Given the description of an element on the screen output the (x, y) to click on. 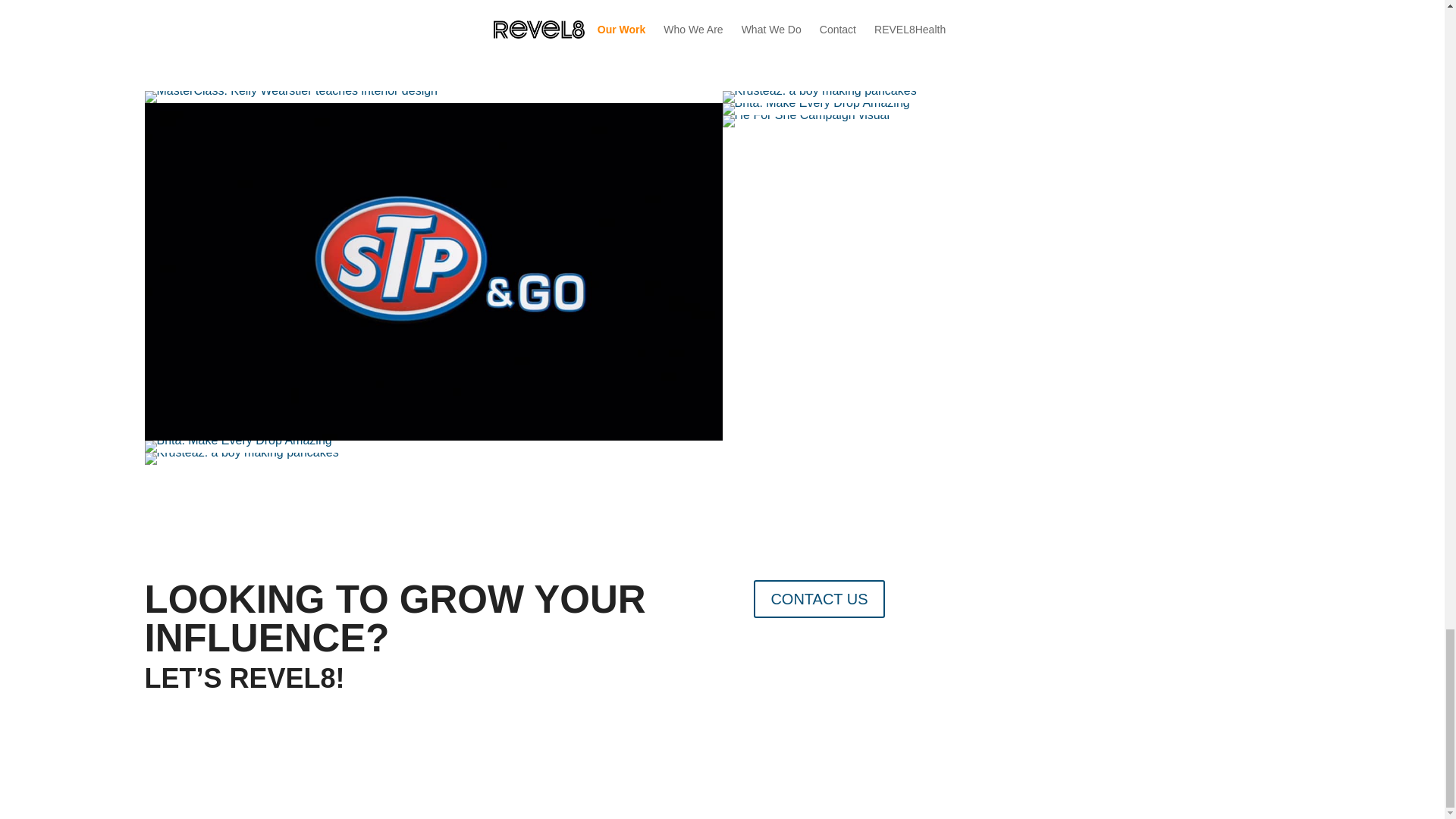
Follow on Instagram (825, 662)
CONTACT US (818, 598)
MasterClass (291, 96)
He for She (805, 121)
Follow on LinkedIn (856, 662)
Krusteaz (240, 458)
privacy policy (1065, 721)
Follow on Facebook (765, 662)
juicyjuice-work-image (237, 446)
